Given the description of an element on the screen output the (x, y) to click on. 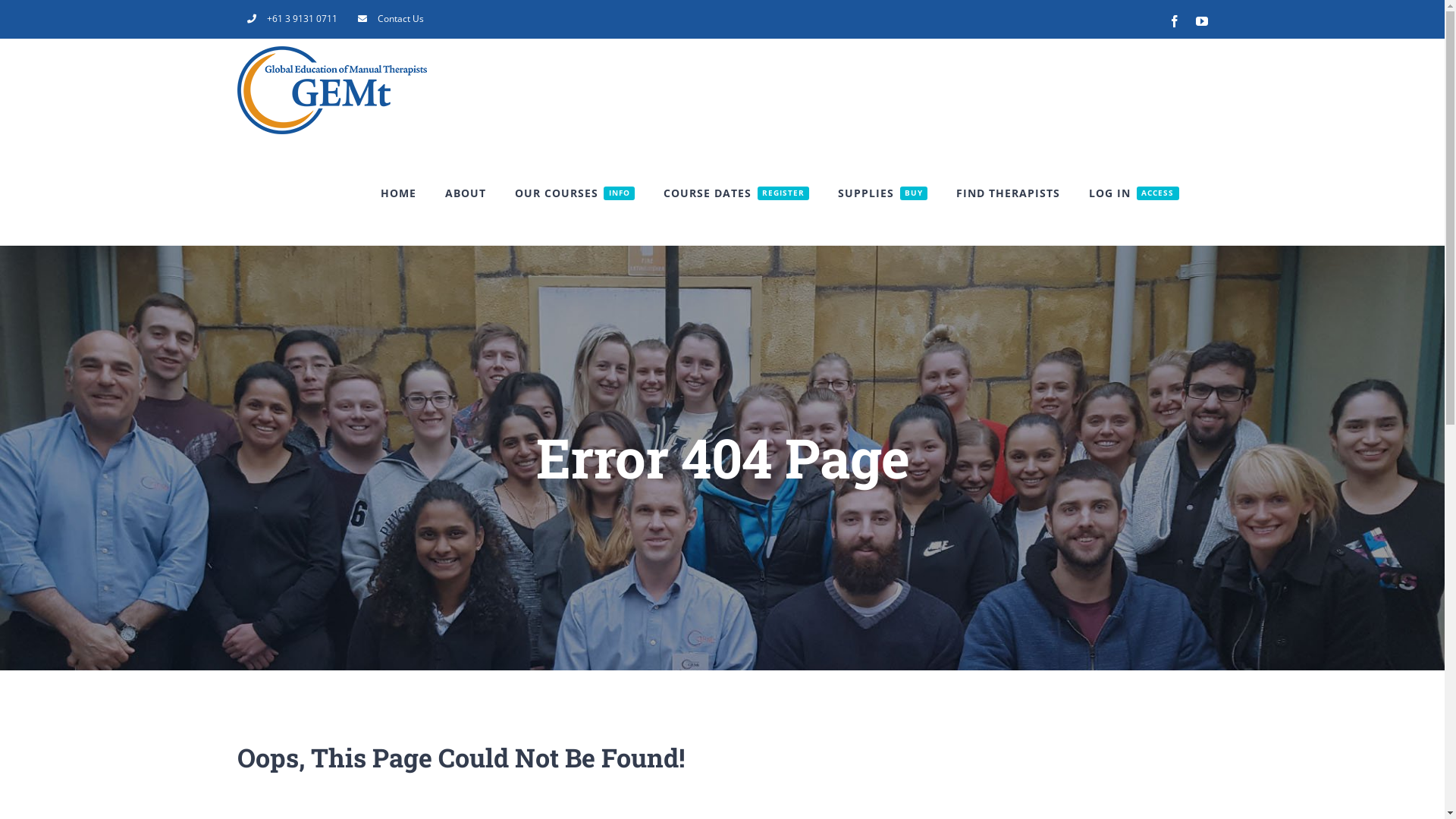
SUPPLIES
BUY Element type: text (882, 192)
OUR COURSES
INFO Element type: text (574, 192)
YouTube Element type: text (1201, 21)
ABOUT Element type: text (465, 192)
+61 3 9131 0711 Element type: text (291, 18)
HOME Element type: text (398, 192)
Contact Us Element type: text (390, 18)
LOG IN
ACCESS Element type: text (1133, 192)
FIND THERAPISTS Element type: text (1008, 192)
COURSE DATES
REGISTER Element type: text (736, 192)
Facebook Element type: text (1173, 21)
